Given the description of an element on the screen output the (x, y) to click on. 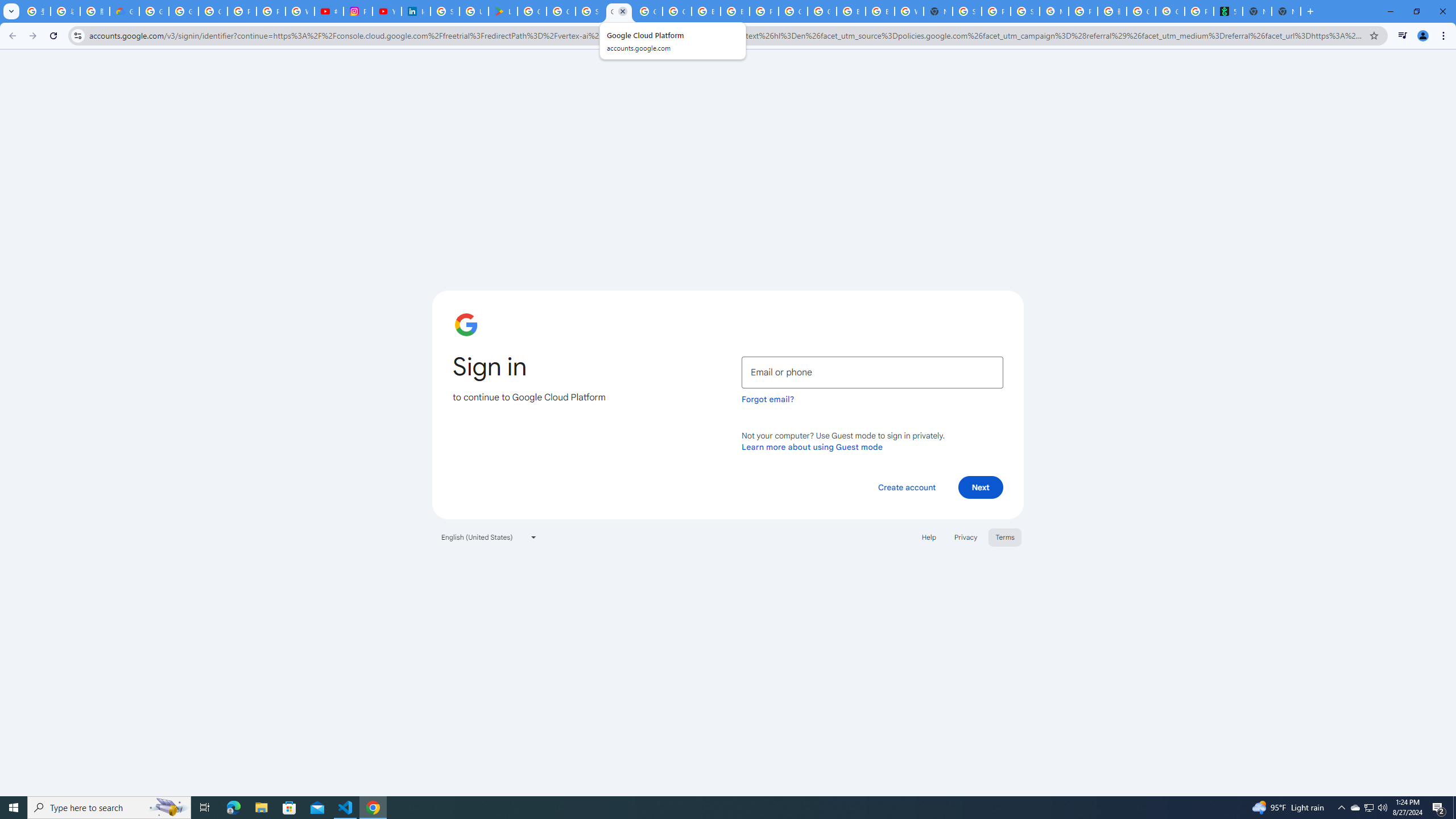
Create account (905, 486)
New Tab (938, 11)
Browse Chrome as a guest - Computer - Google Chrome Help (705, 11)
Learn more about using Guest mode (812, 446)
Google Cloud Platform (821, 11)
